Given the description of an element on the screen output the (x, y) to click on. 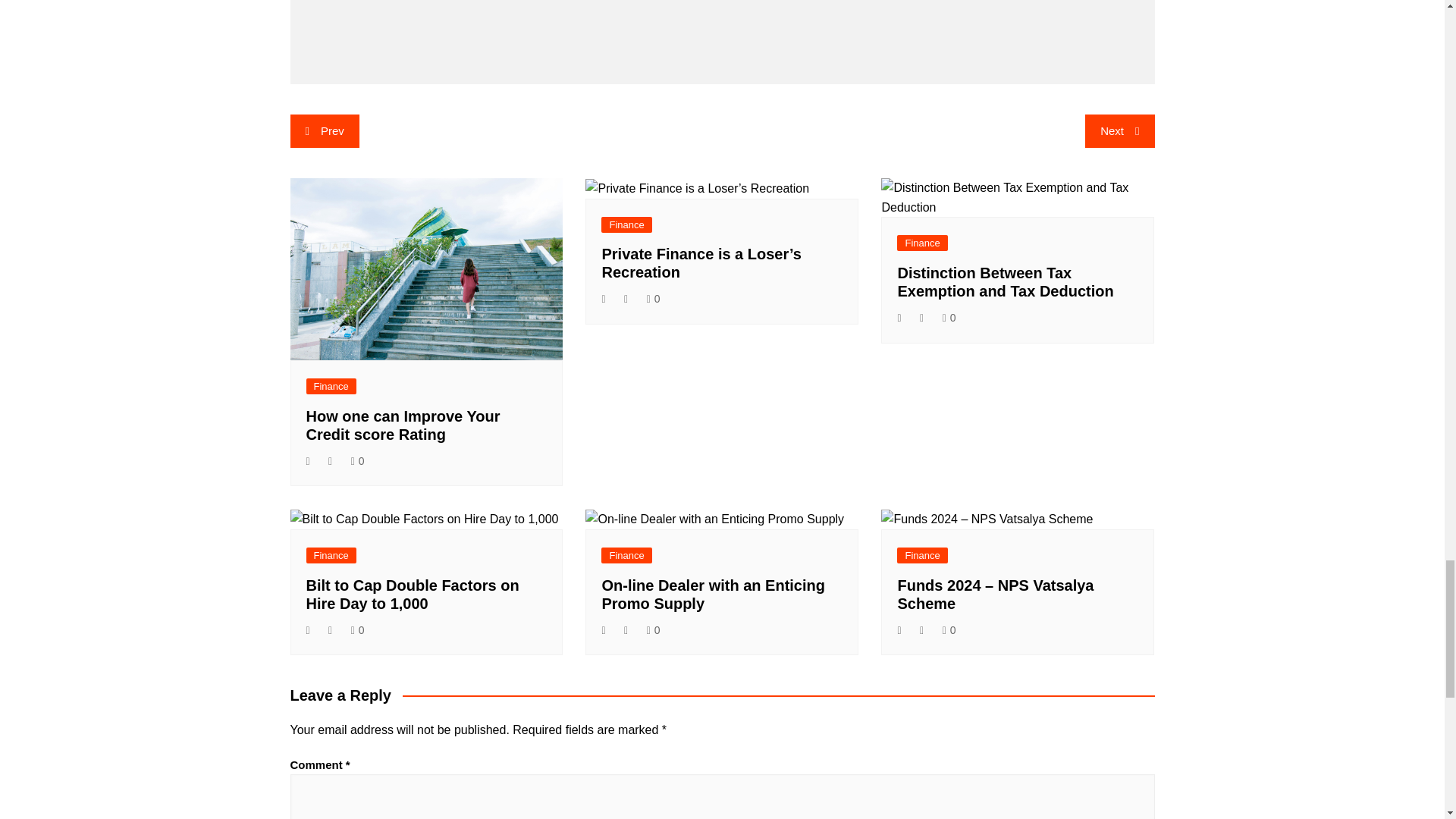
Finance (921, 242)
Distinction Between Tax Exemption and Tax Deduction (1004, 281)
Prev (323, 131)
Next (1119, 131)
How one can Improve Your Credit score Rating (402, 425)
Finance (625, 224)
Finance (330, 385)
